Given the description of an element on the screen output the (x, y) to click on. 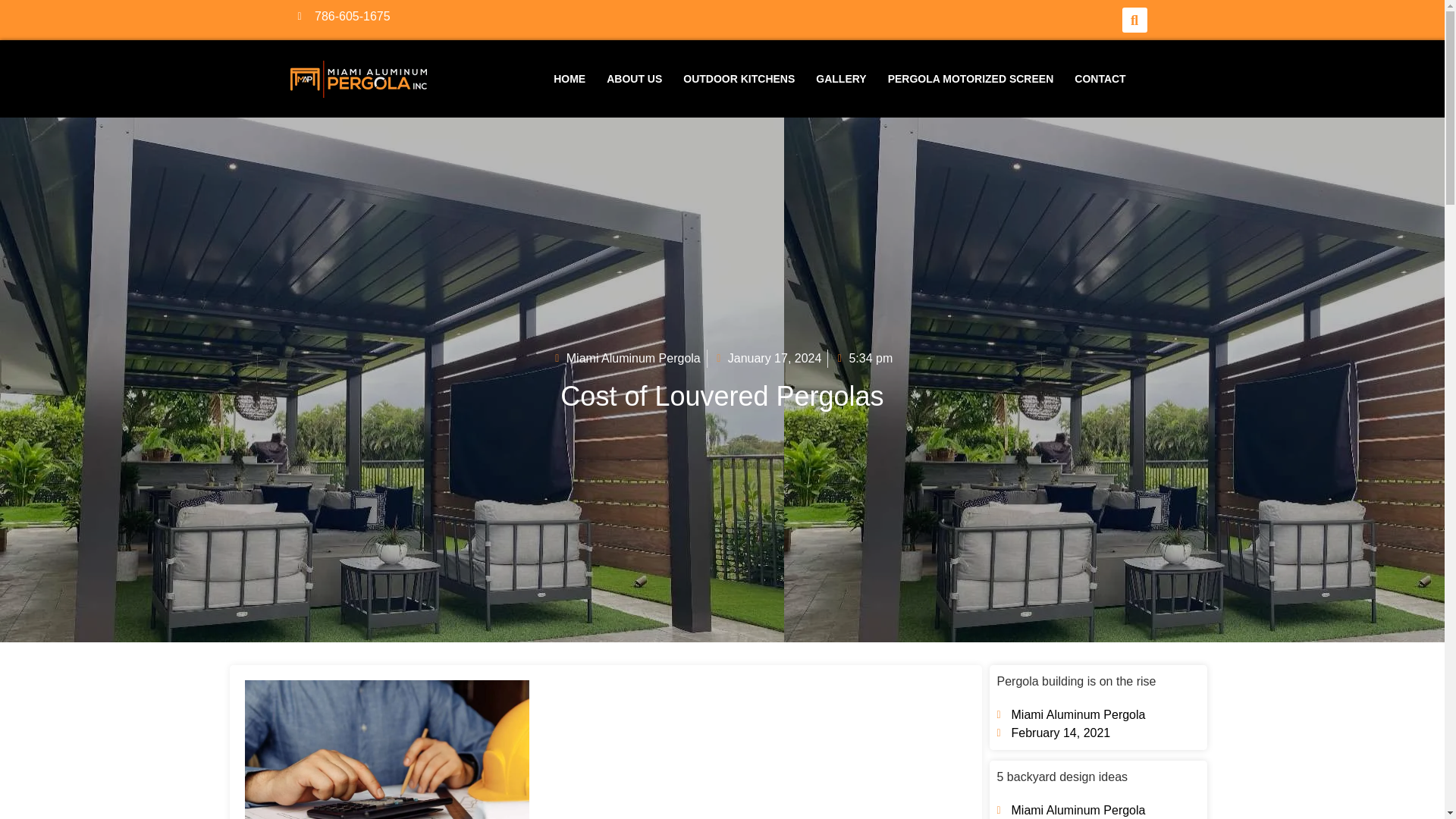
January 17, 2024 (767, 358)
5 backyard design ideas (1060, 776)
HOME (569, 78)
Miami Aluminum Pergola (625, 358)
ABOUT US (633, 78)
786-605-1675 (505, 16)
Miami Aluminum Pergola (1069, 810)
February 14, 2021 (1052, 732)
Miami Aluminum Pergola (1069, 714)
PERGOLA MOTORIZED SCREEN (970, 78)
